Given the description of an element on the screen output the (x, y) to click on. 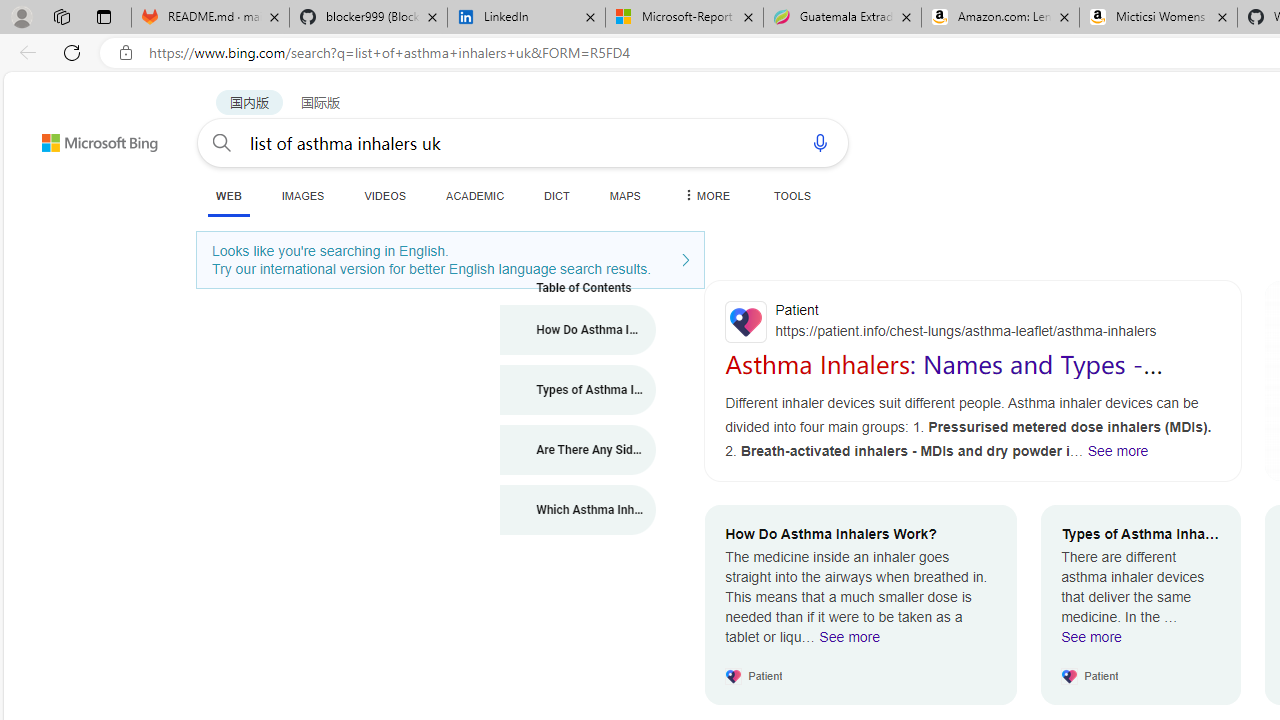
TOOLS (792, 195)
DICT (557, 195)
ACADEMIC (475, 195)
MAPS (624, 195)
Dropdown Menu (705, 195)
LinkedIn (526, 17)
Back to Bing search (87, 138)
